Given the description of an element on the screen output the (x, y) to click on. 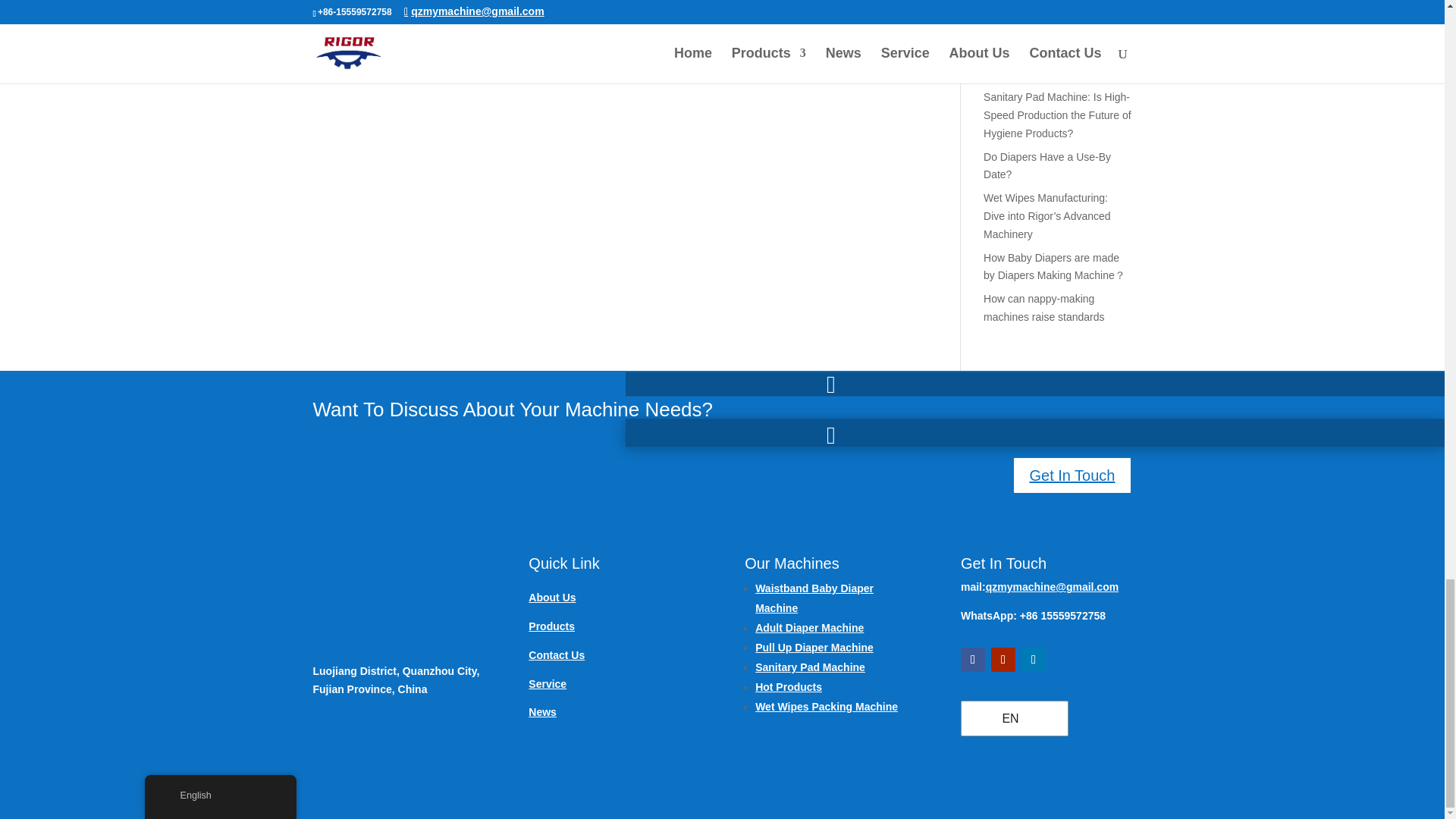
logo (398, 597)
English (988, 717)
Follow on LinkedIn (1033, 659)
Follow on Facebook (972, 659)
Follow on Youtube (1002, 659)
English (1011, 718)
